Given the description of an element on the screen output the (x, y) to click on. 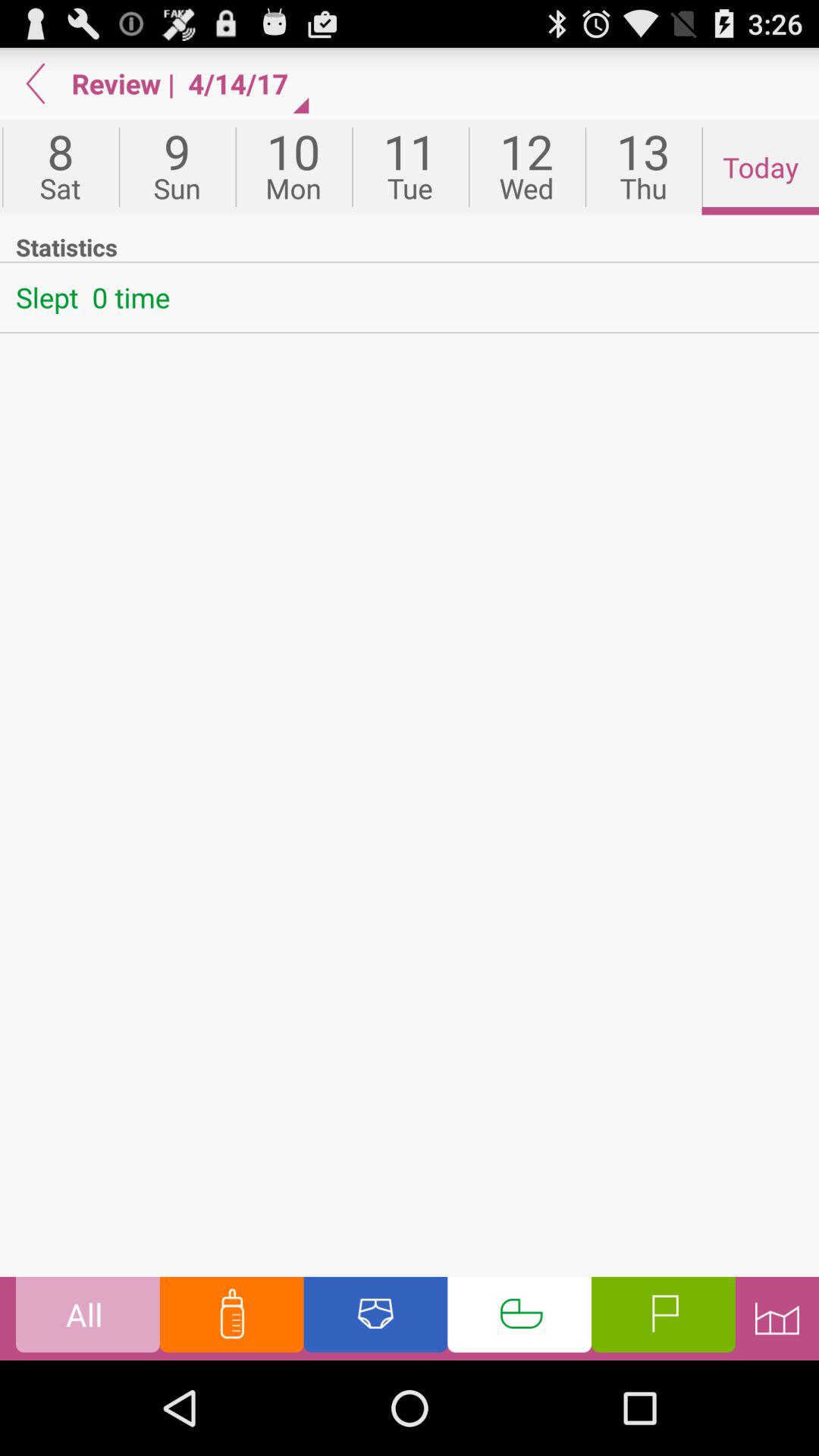
swipe until tue (410, 166)
